Given the description of an element on the screen output the (x, y) to click on. 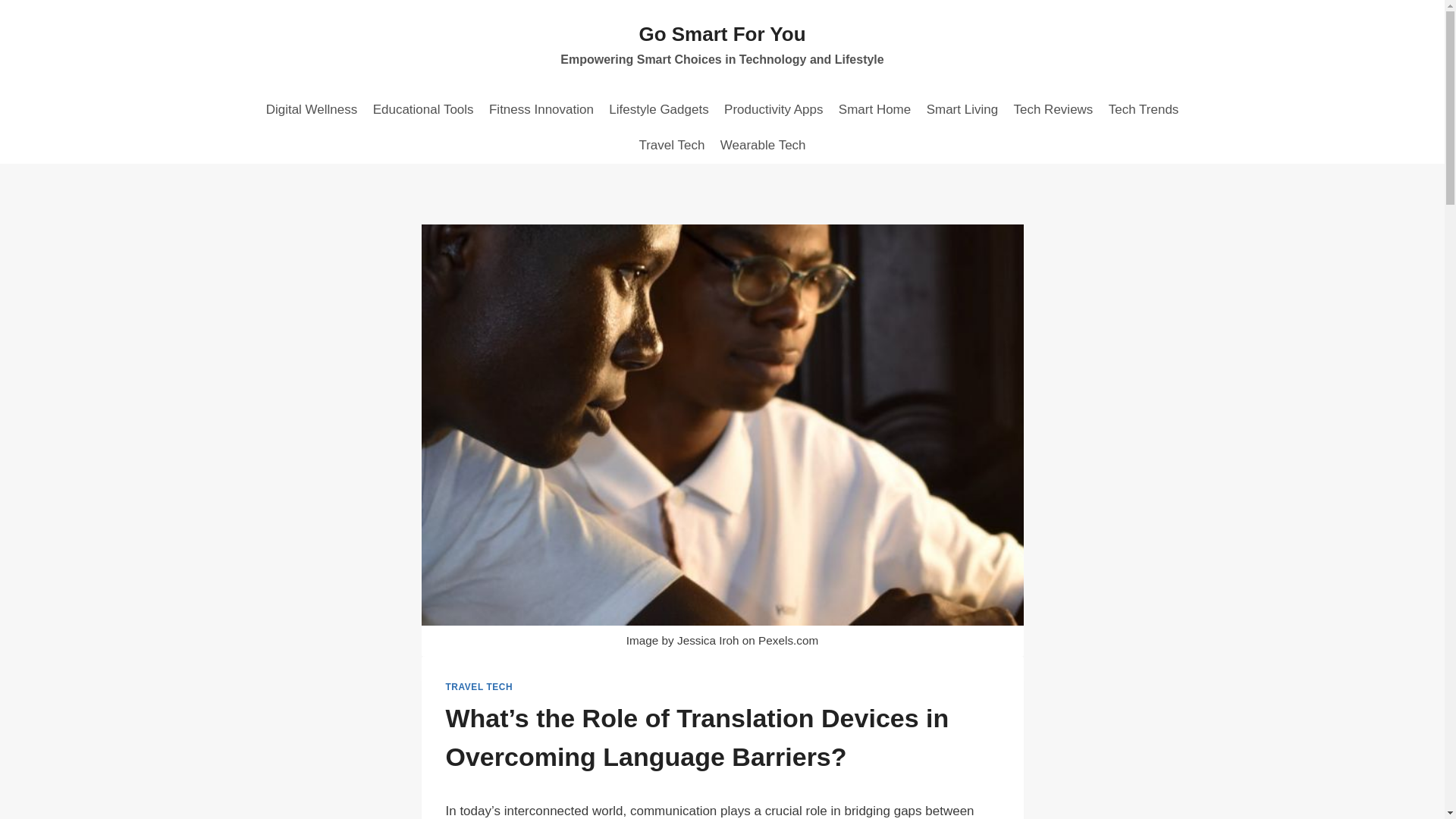
Fitness Innovation (541, 109)
Smart Home (874, 109)
Productivity Apps (773, 109)
TRAVEL TECH (479, 686)
Tech Reviews (1053, 109)
Educational Tools (422, 109)
Travel Tech (670, 145)
Tech Trends (1143, 109)
Digital Wellness (311, 109)
Smart Living (962, 109)
Wearable Tech (763, 145)
Lifestyle Gadgets (658, 109)
